Given the description of an element on the screen output the (x, y) to click on. 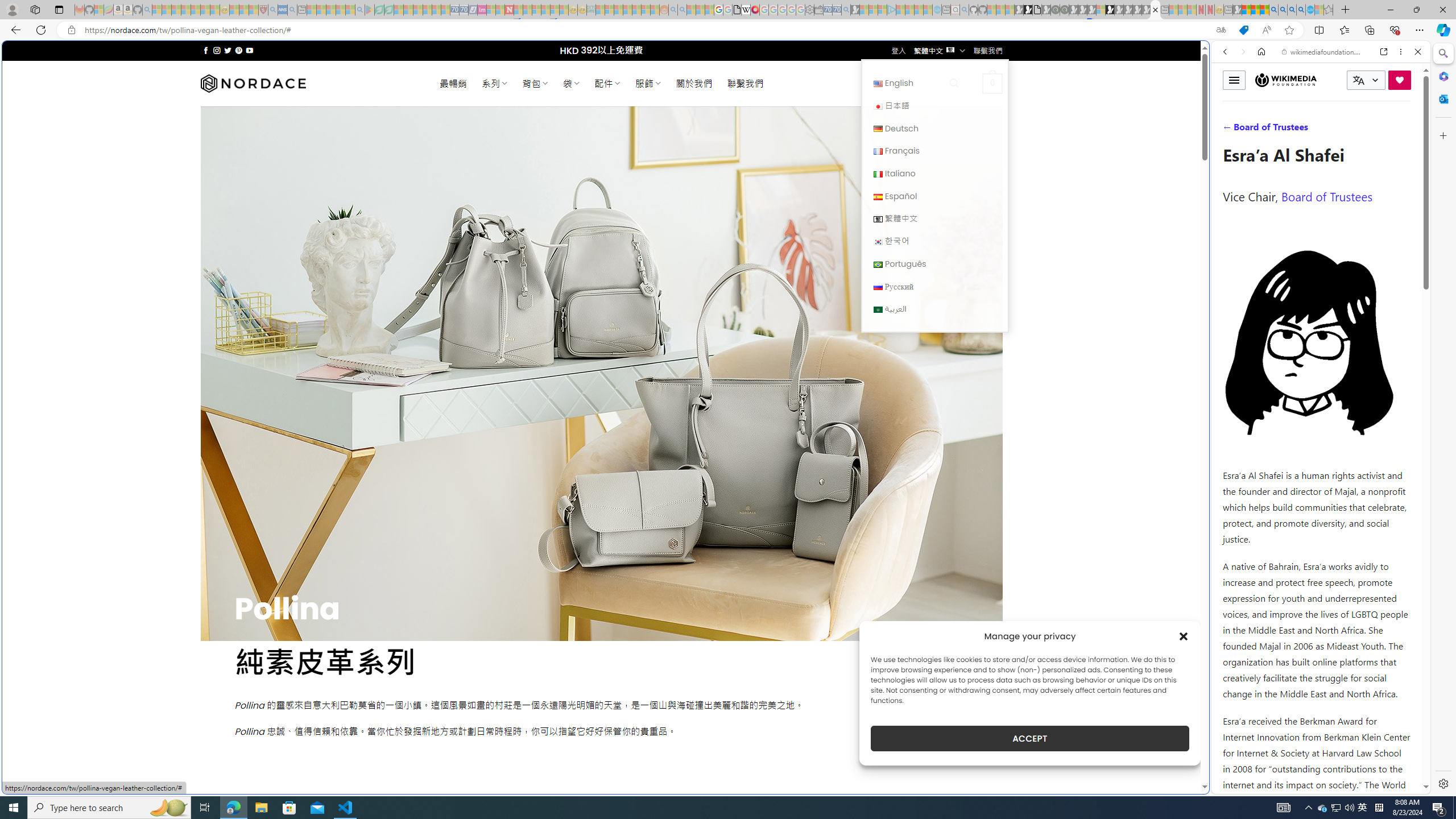
Nordace - Pollina Vegan Leather Collection (1154, 9)
Settings - Sleeping (809, 9)
Wiktionary (1315, 380)
Close split screen (1208, 57)
